Given the description of an element on the screen output the (x, y) to click on. 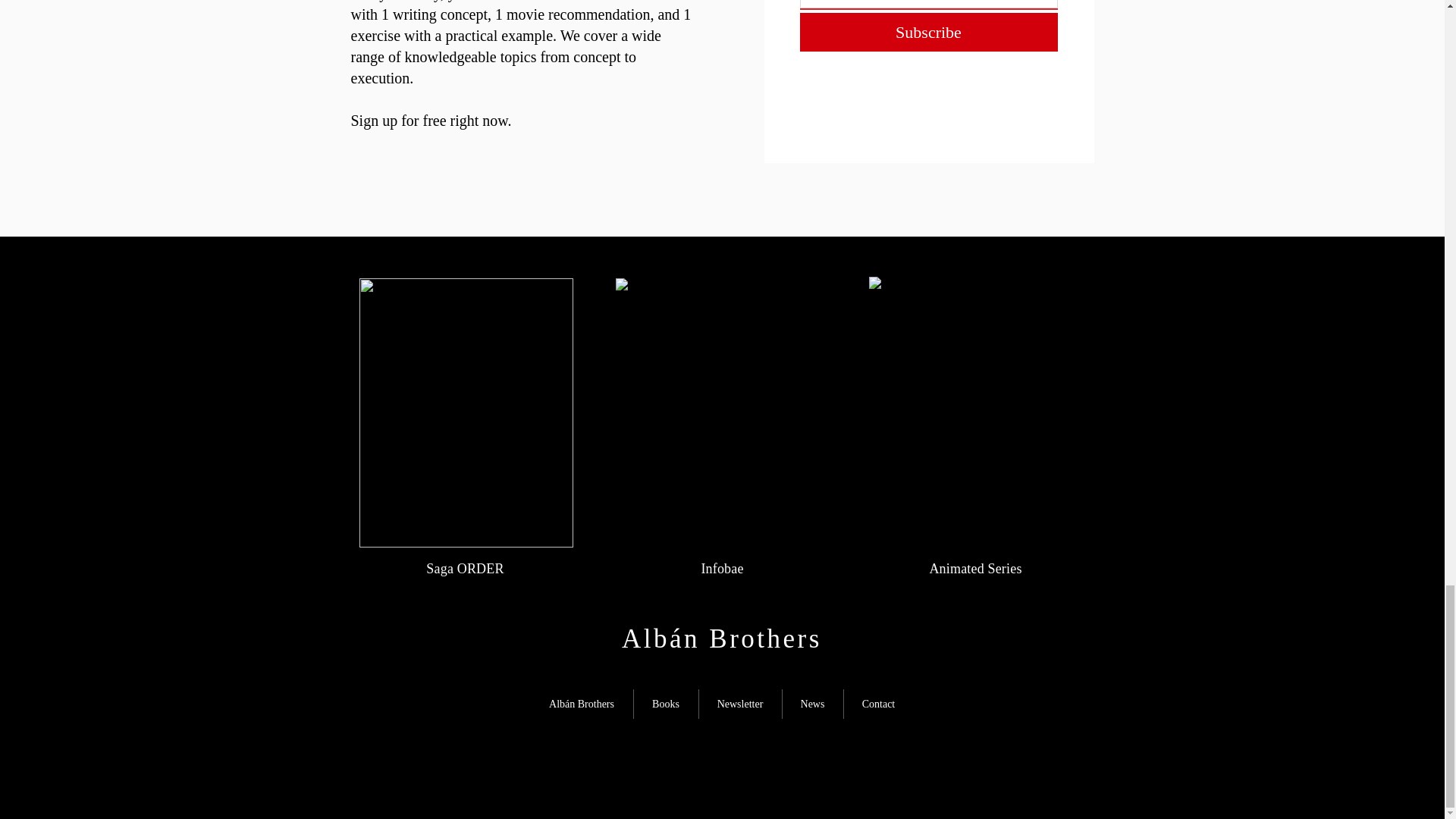
Infobae (721, 568)
Saga ORDER (464, 568)
Animated Series (975, 568)
News (813, 704)
Newsletter (739, 704)
Contact (877, 704)
Subscribe (928, 32)
Books (665, 704)
